Given the description of an element on the screen output the (x, y) to click on. 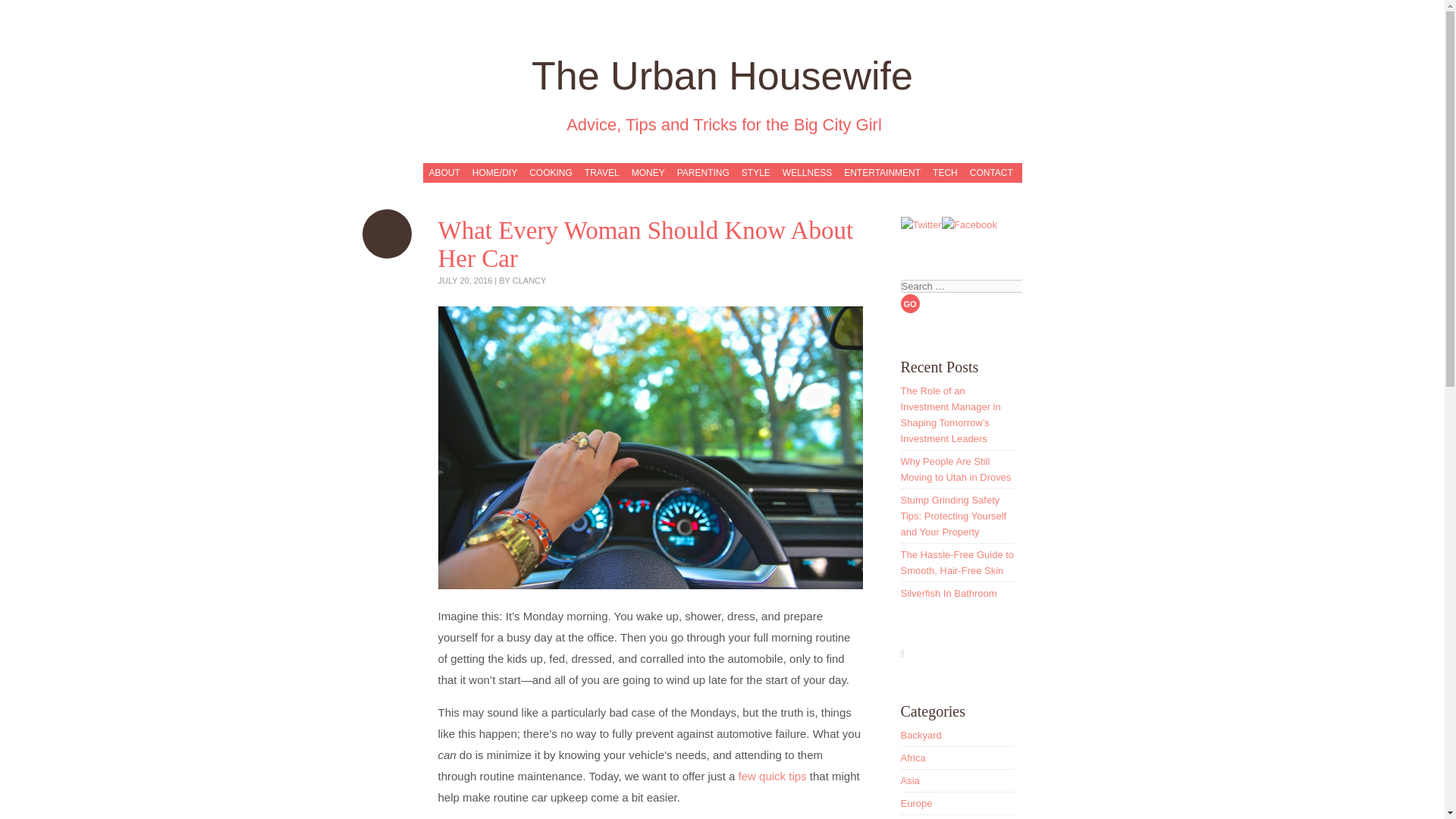
The Urban Housewife (721, 75)
WELLNESS (809, 172)
Skip to content (460, 170)
6:50 pm (465, 280)
Go (910, 303)
TECH (946, 172)
Permalink to What Every Woman Should Know About Her Car (387, 233)
JULY 20, 2016 (465, 280)
ABOUT (445, 172)
ENTERTAINMENT (884, 172)
The Urban Housewife (721, 75)
few quick tips (772, 775)
MONEY (649, 172)
CLANCY (529, 280)
Skip to content (460, 170)
